Given the description of an element on the screen output the (x, y) to click on. 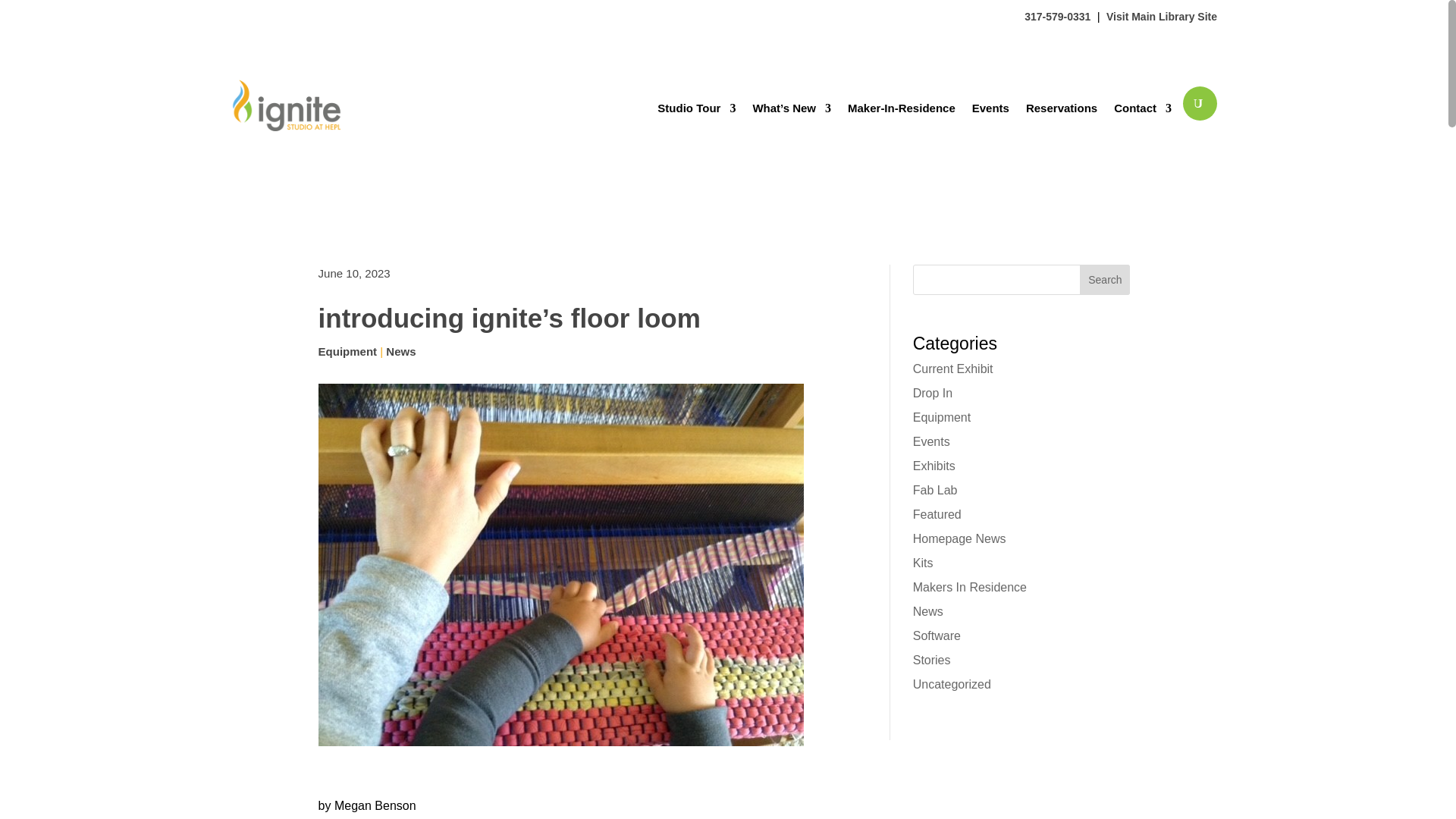
Maker-In-Residence (901, 108)
Reservations (1061, 108)
Visit Main Library Site (1161, 16)
search (1199, 103)
Search (1104, 279)
Studio Tour (696, 108)
News (399, 350)
Equipment (347, 350)
317-579-0331 (1057, 16)
